Given the description of an element on the screen output the (x, y) to click on. 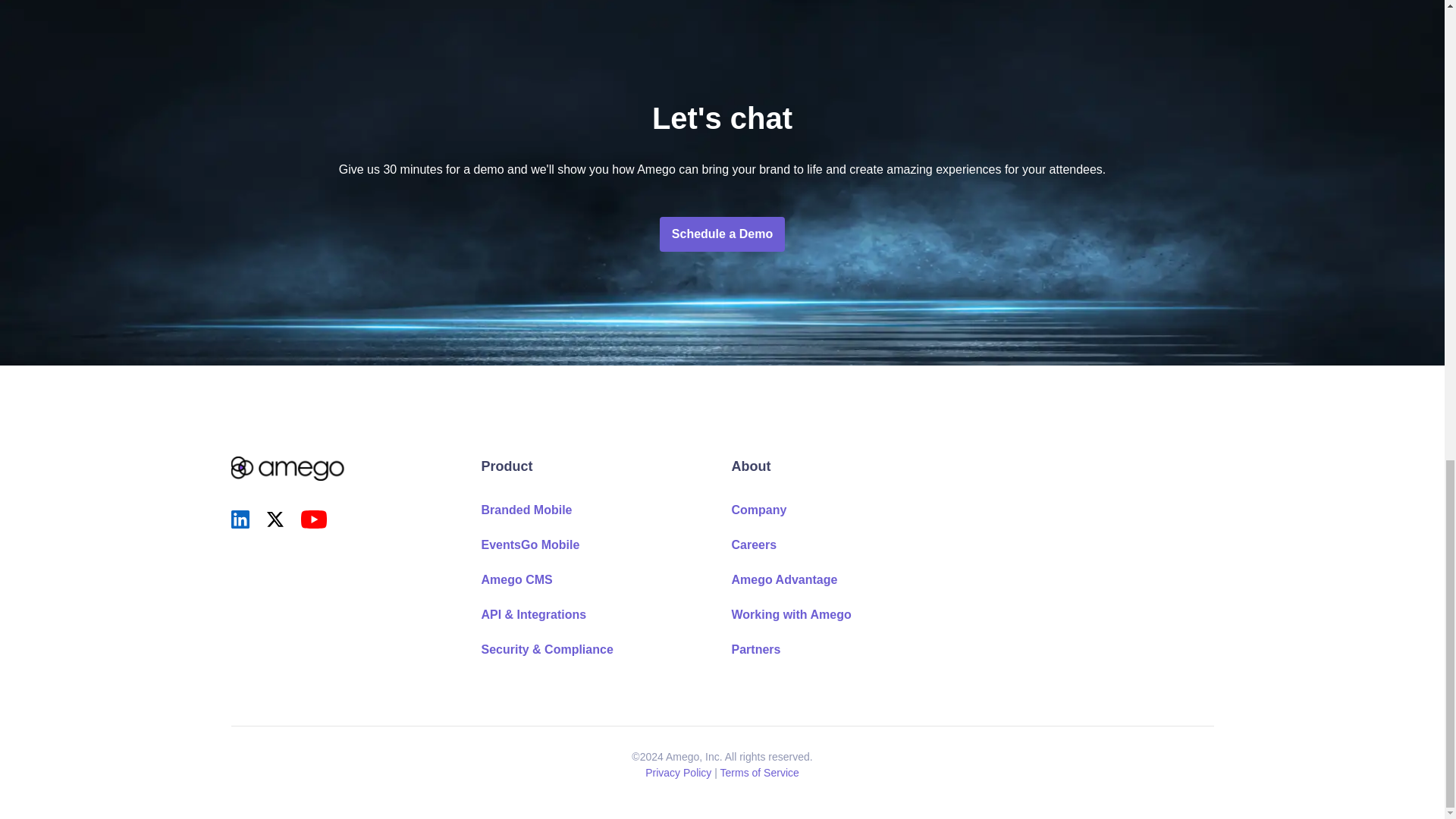
Company (758, 509)
Amego Advantage (783, 579)
Partners (755, 649)
EventsGo Mobile (529, 544)
Amego CMS (515, 579)
Working with Amego (790, 614)
Branded Mobile (526, 509)
Schedule a Demo (721, 234)
Careers (753, 544)
